Given the description of an element on the screen output the (x, y) to click on. 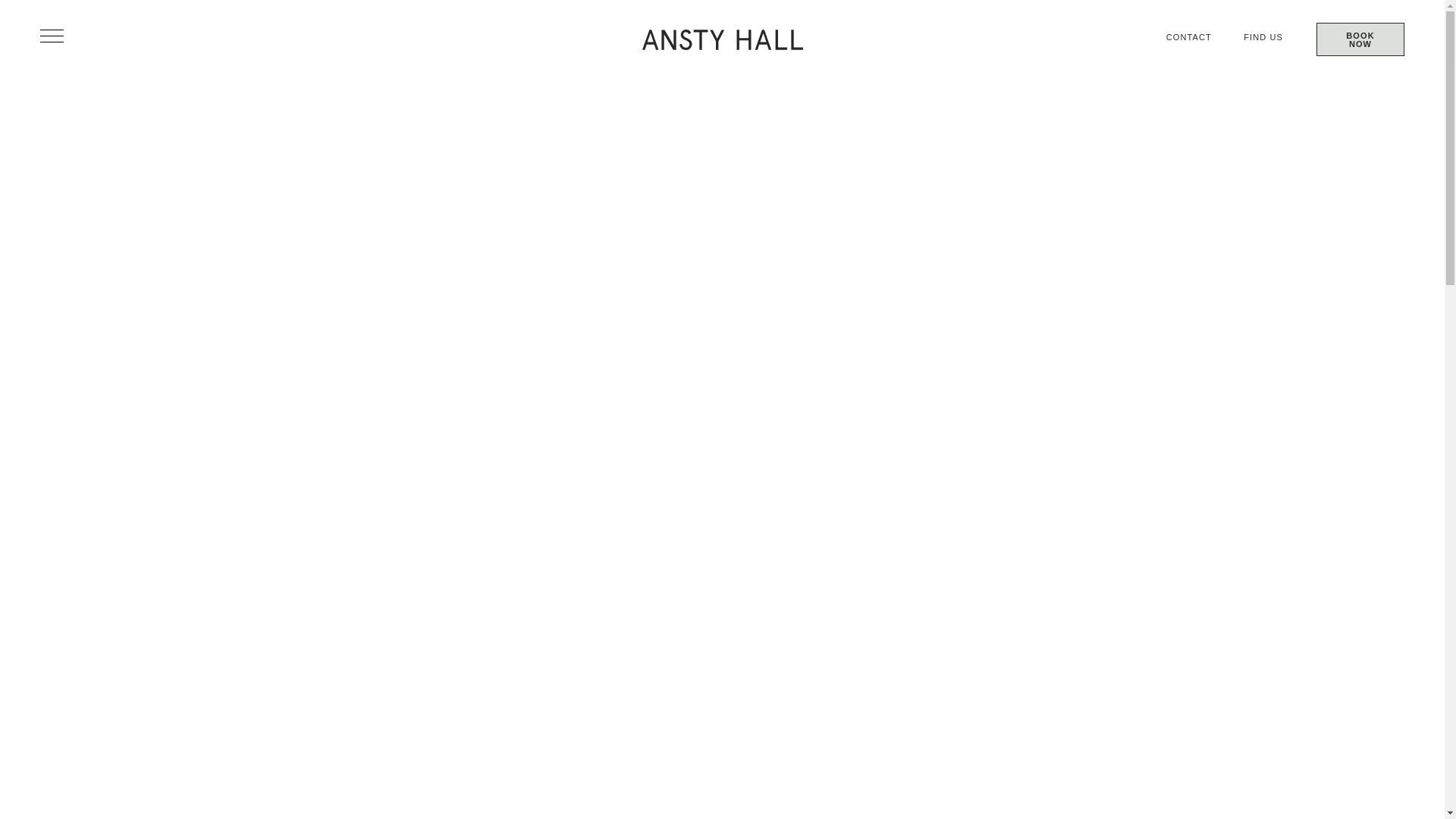
OPEN MENU (57, 37)
HOME PAGE (697, 20)
CONTACT (1188, 36)
FIND US (1262, 36)
BOOK NOW (1360, 39)
